Given the description of an element on the screen output the (x, y) to click on. 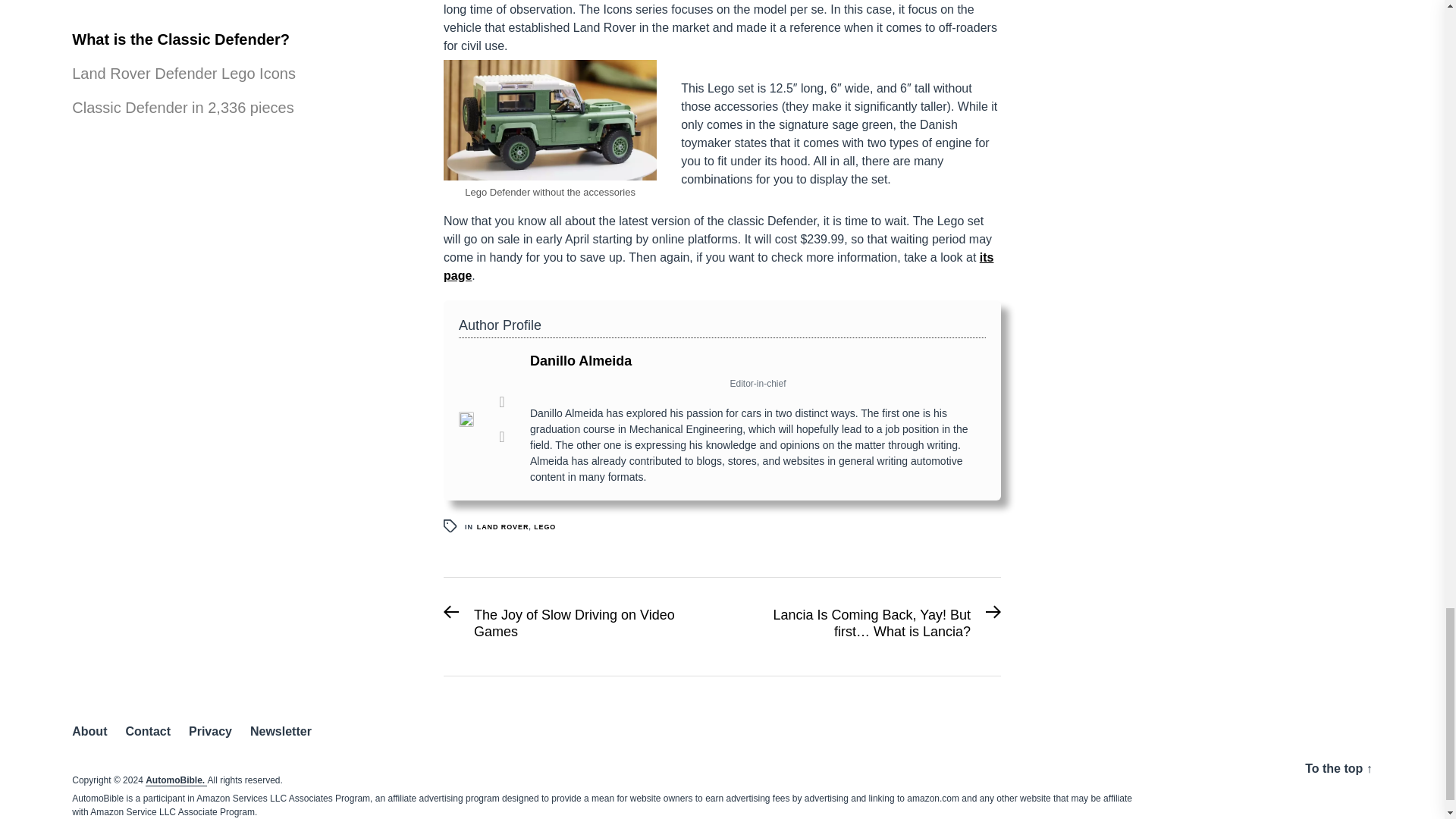
Danillo Almeida (575, 626)
LEGO (580, 360)
AutomoBible (545, 526)
LAND ROVER (175, 780)
its page (503, 526)
